Given the description of an element on the screen output the (x, y) to click on. 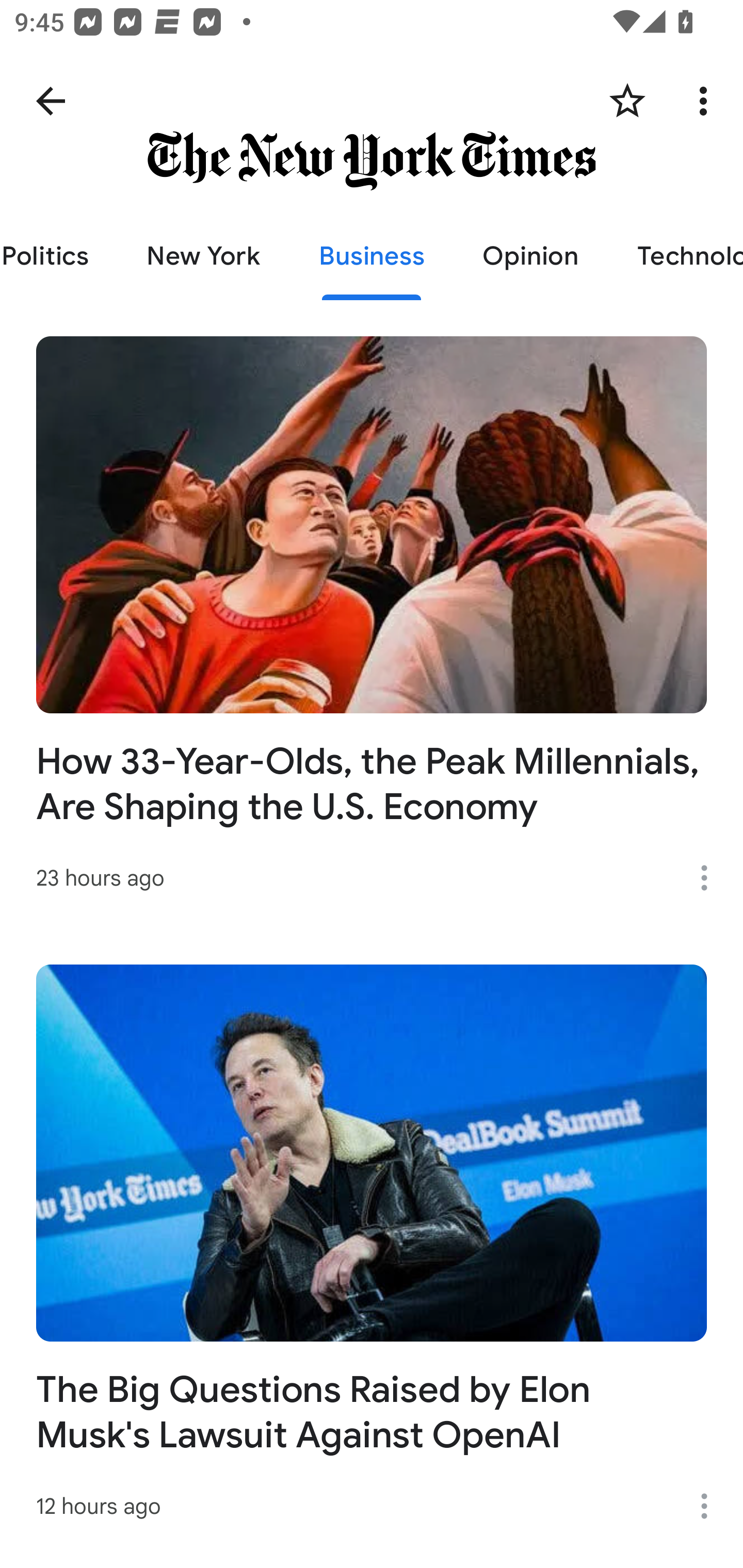
Navigate up (50, 101)
Follow (626, 101)
More options (706, 101)
Politics (58, 256)
New York (203, 256)
Opinion (530, 256)
Technology (675, 256)
More options (711, 878)
More options (711, 1505)
